Given the description of an element on the screen output the (x, y) to click on. 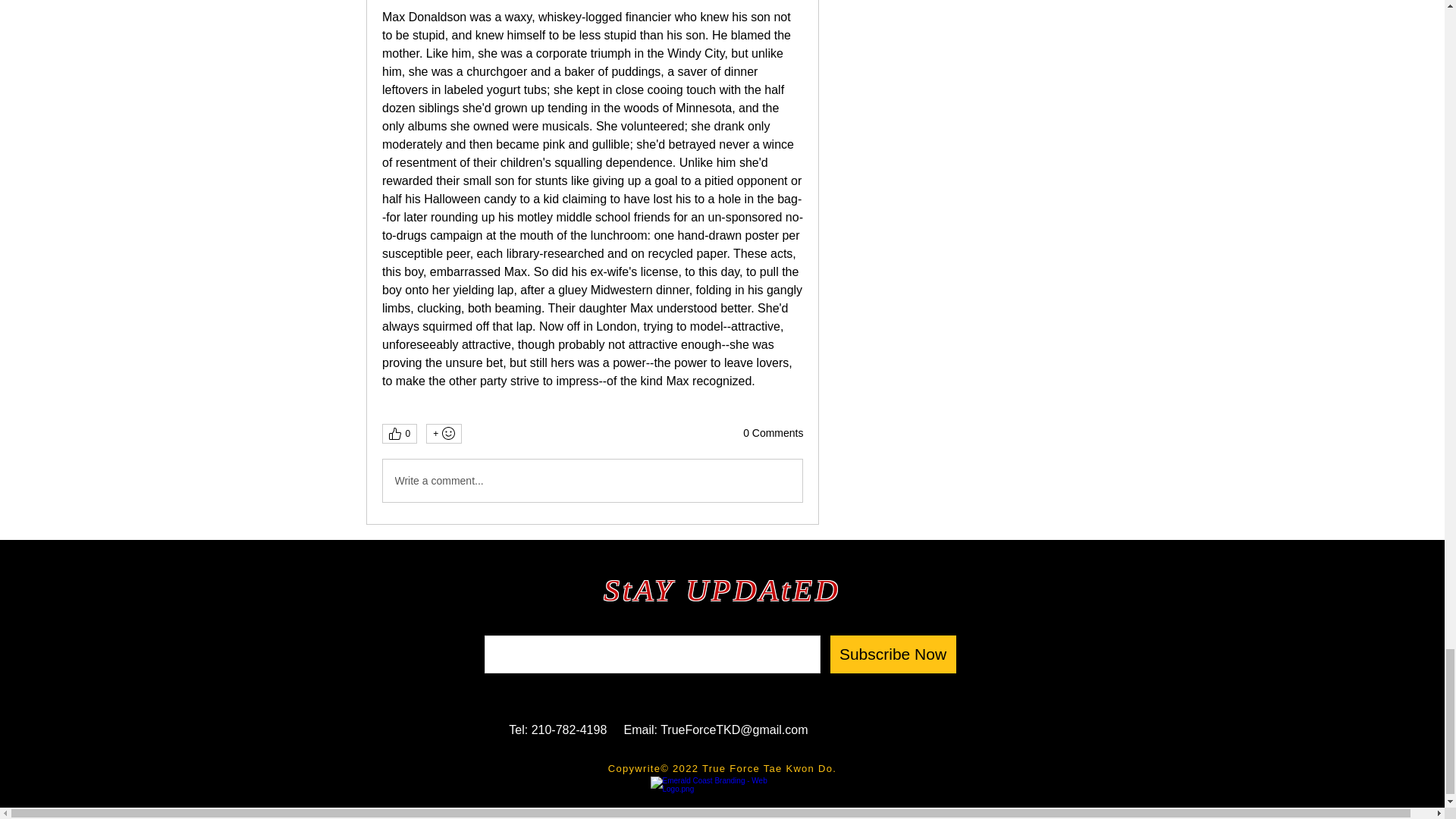
0 Comments (772, 433)
Subscribe Now (892, 654)
Write a comment... (591, 480)
